Given the description of an element on the screen output the (x, y) to click on. 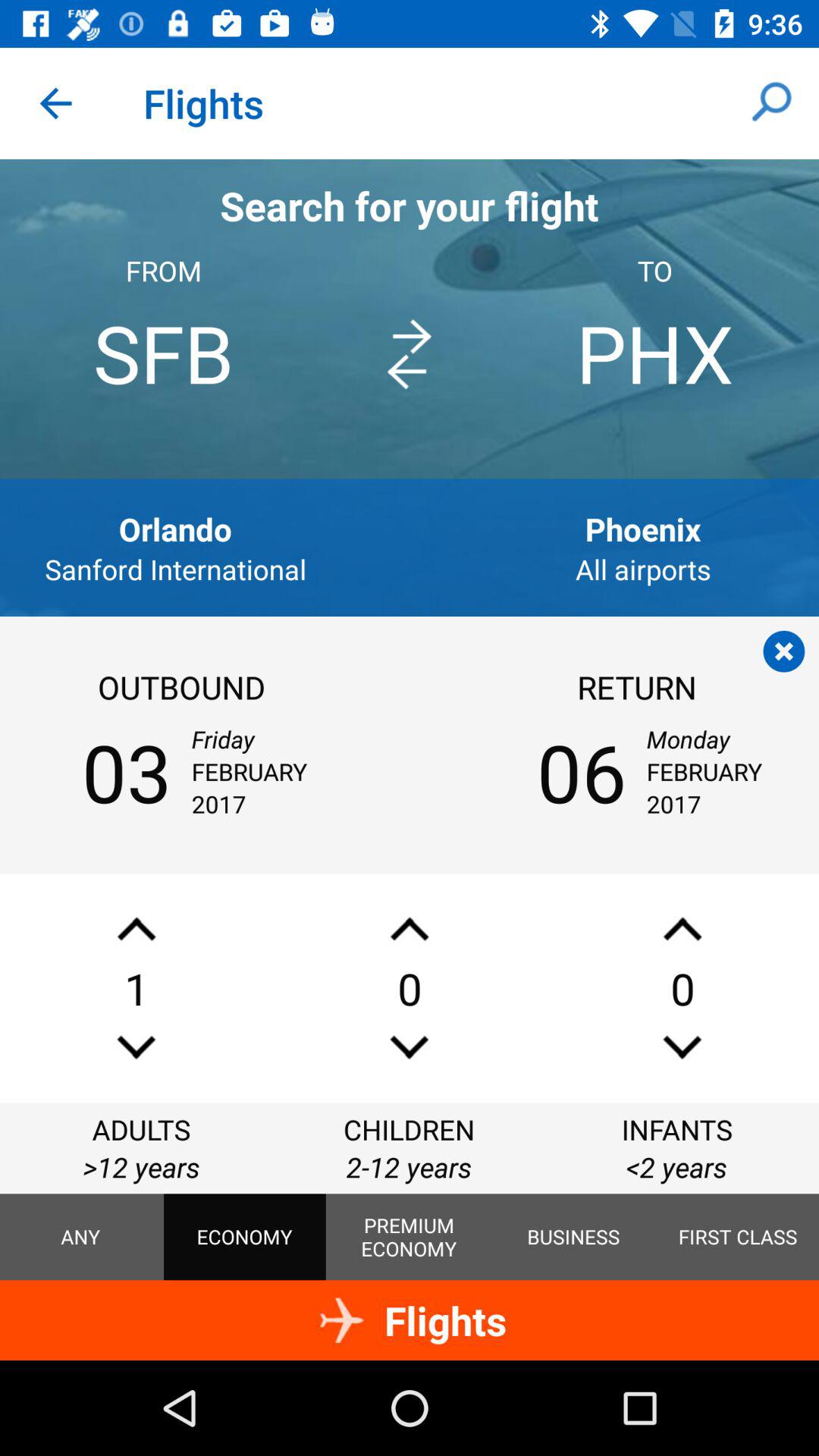
turn off the first class icon (737, 1236)
